Given the description of an element on the screen output the (x, y) to click on. 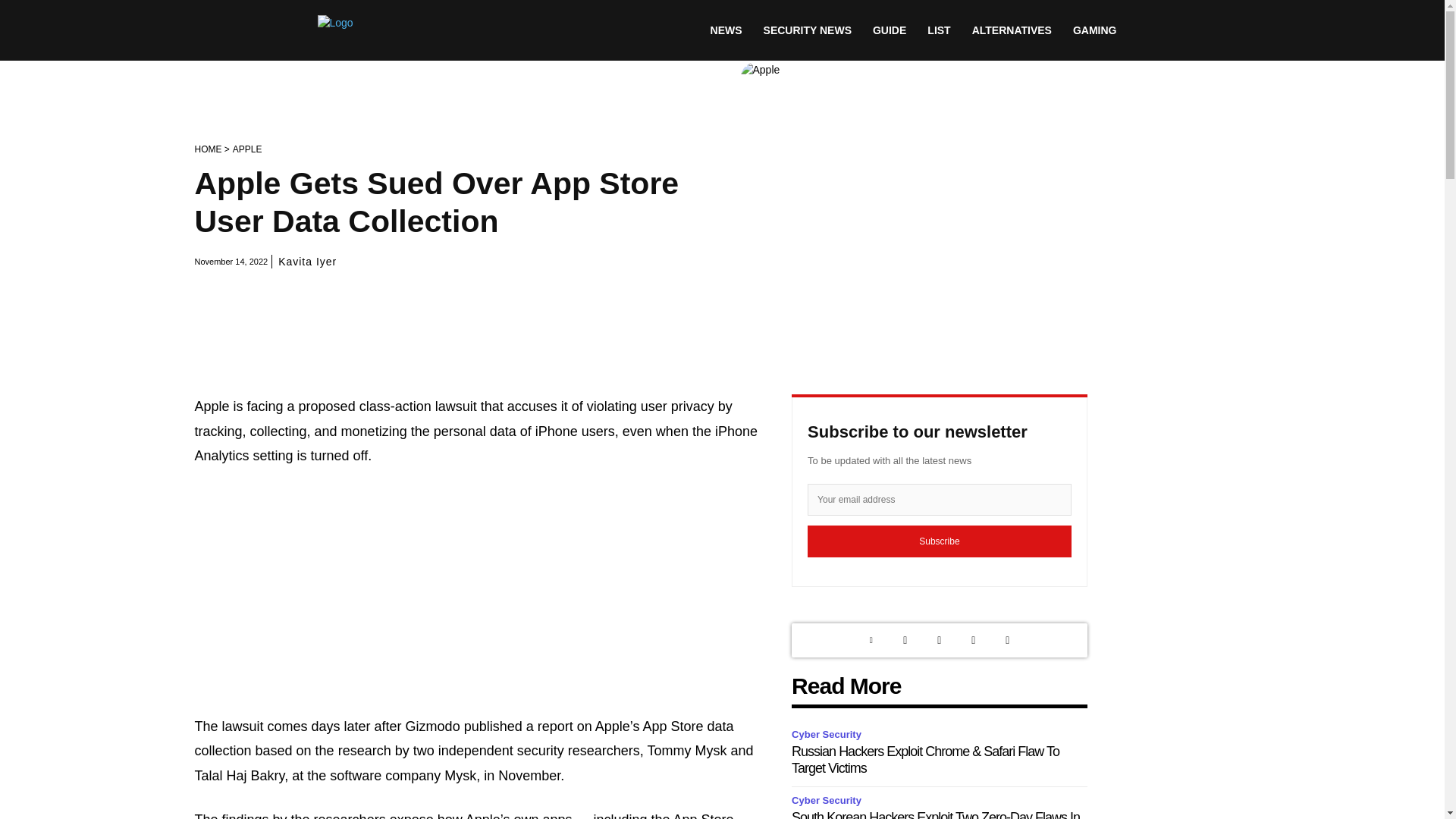
GUIDE (889, 30)
Cyber Security (829, 734)
Subscribe (939, 541)
View all posts in Apple (247, 149)
GAMING (1094, 30)
Cyber Security (829, 800)
Twitter (904, 640)
SECURITY NEWS (806, 30)
